Given the description of an element on the screen output the (x, y) to click on. 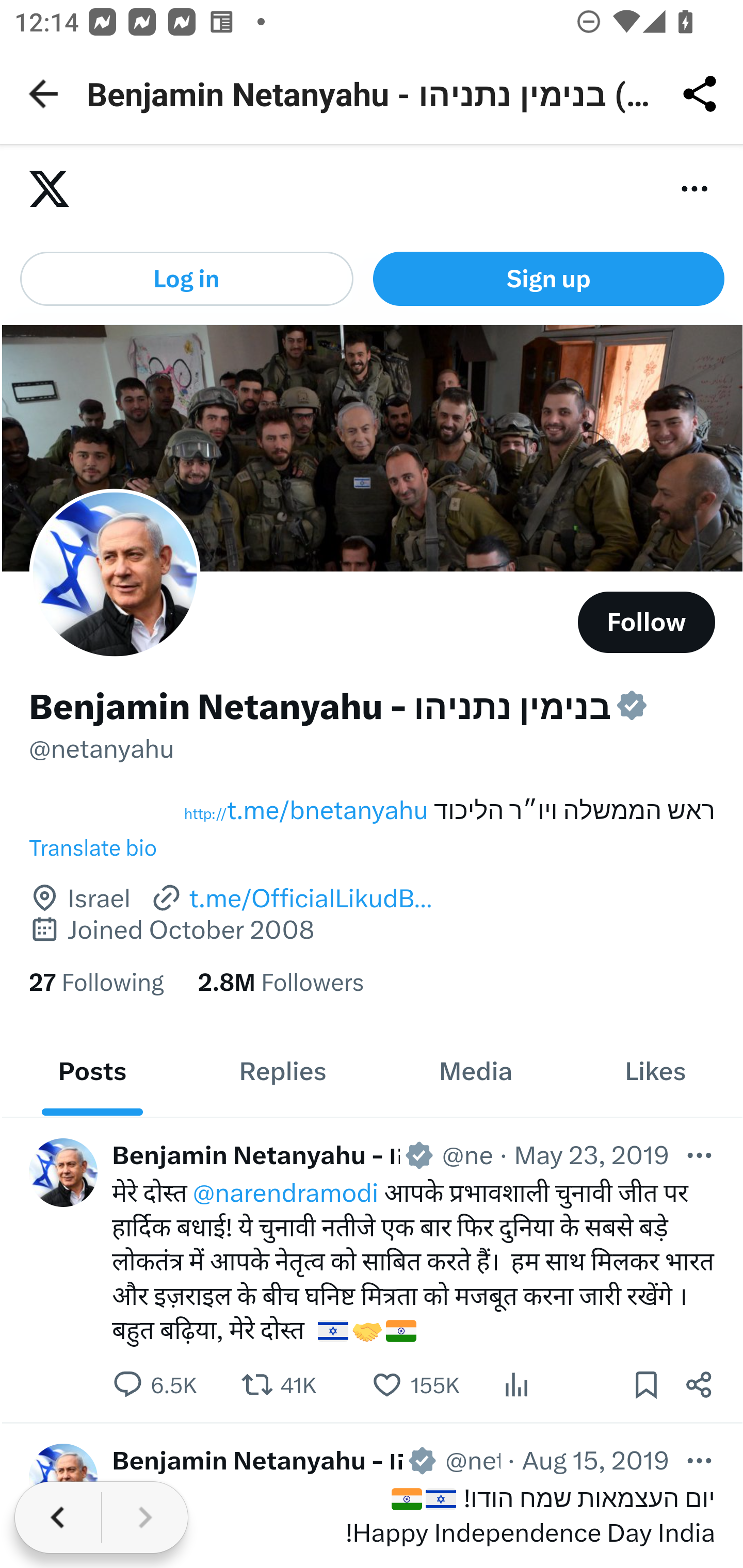
Follow @netanyahu (647, 621)
Provides details about verified accounts. (631, 705)
@netanyahu (101, 748)
t.me/bnetanyahu (305, 810)
Translate bio (372, 848)
t.me/OfficialLikudB… (291, 898)
27 Following 27   Following (96, 982)
2.8M Followers 2.8M   Followers (280, 982)
Posts (92, 1070)
Replies (283, 1070)
Media (475, 1070)
Likes (654, 1070)
@netanyahu (467, 1154)
May 23, 2019 (590, 1154)
More (699, 1154)
@narendramodi (284, 1192)
6546 Replies. Reply (155, 1383)
41901 reposts. Repost (278, 1383)
155300 Likes. Like (414, 1383)
View post analytics (516, 1383)
Bookmark (645, 1383)
Share post (699, 1383)
@netanyahu (473, 1460)
Aug 15, 2019 (594, 1460)
More (699, 1460)
